Given the description of an element on the screen output the (x, y) to click on. 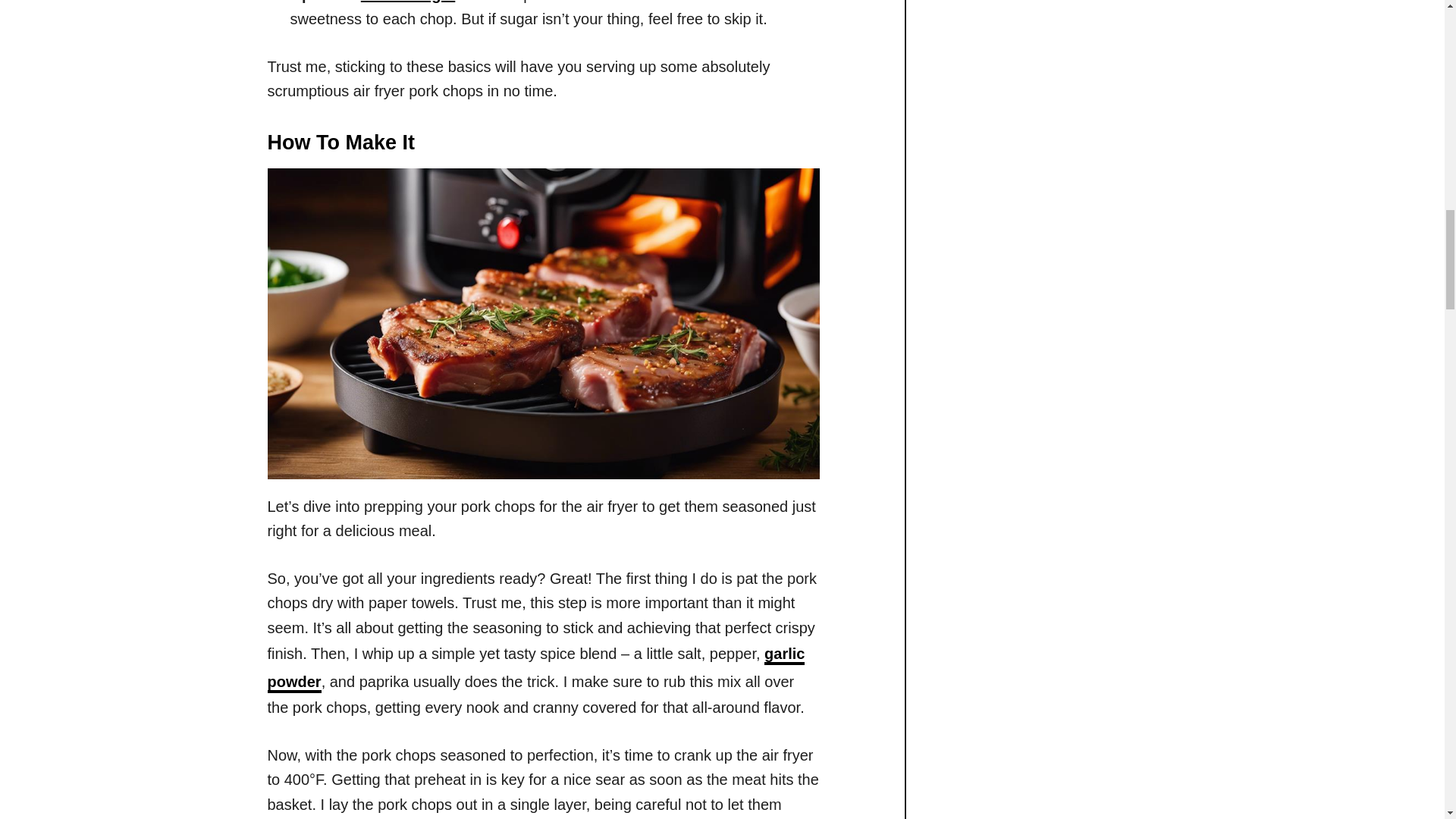
Brown Sugar (407, 1)
garlic powder (535, 668)
garlic powder (535, 668)
Brown Sugar (407, 1)
